Given the description of an element on the screen output the (x, y) to click on. 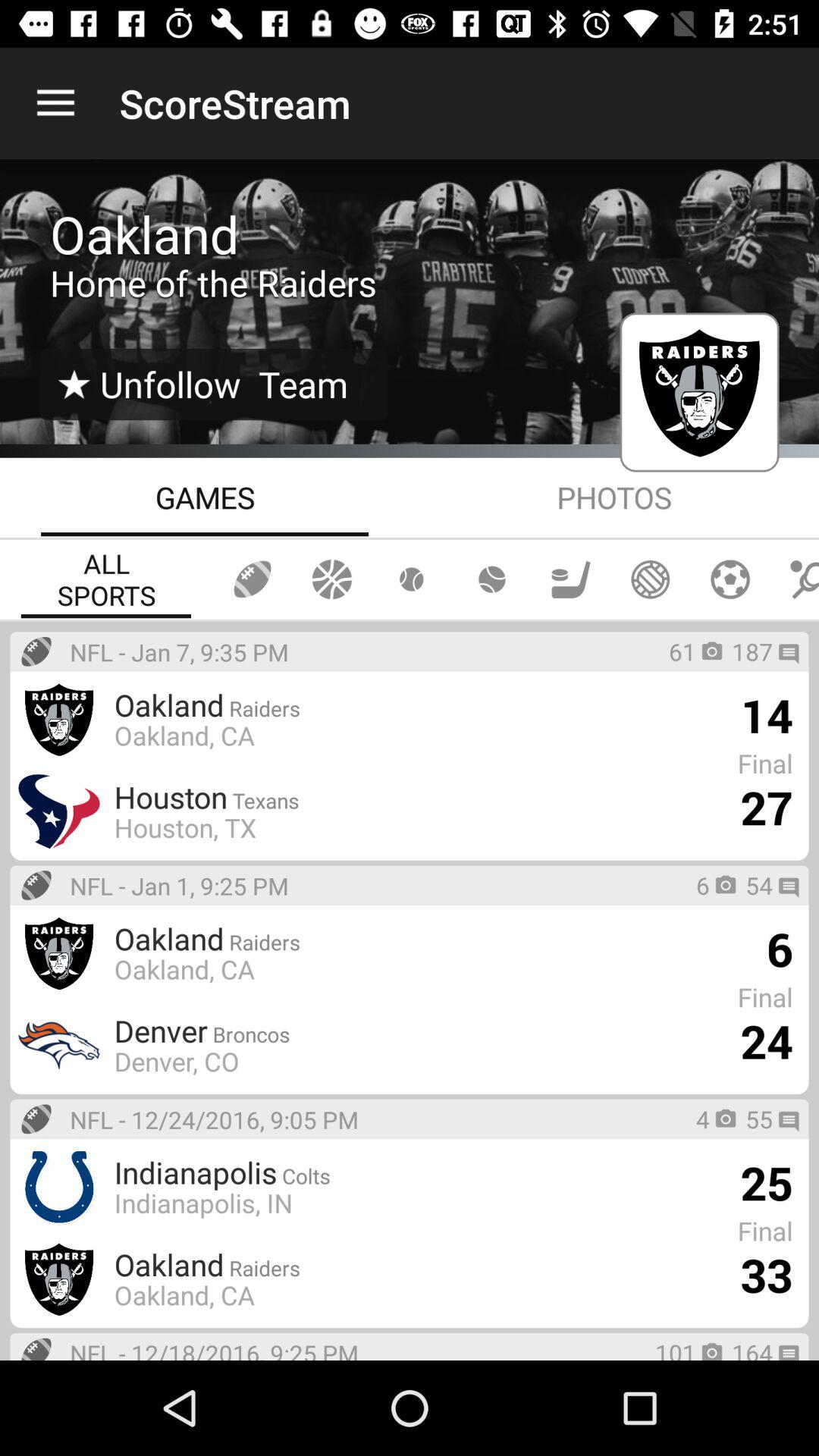
select the app below oakland, ca icon (176, 1060)
